Given the description of an element on the screen output the (x, y) to click on. 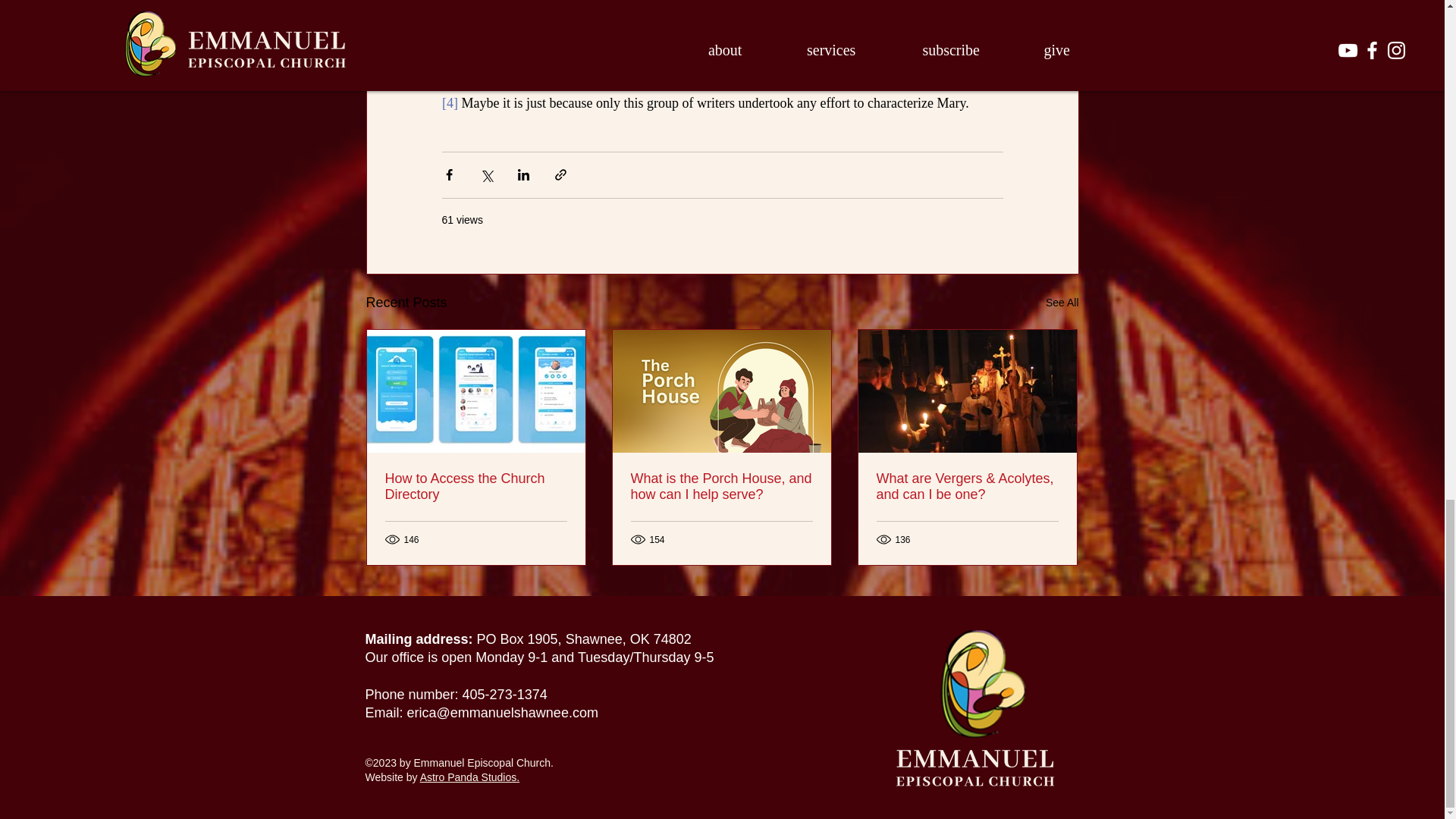
What is the Porch House, and how can I help serve? (721, 486)
How to Access the Church Directory (476, 486)
Astro Panda Studios. (469, 776)
See All (1061, 302)
